Given the description of an element on the screen output the (x, y) to click on. 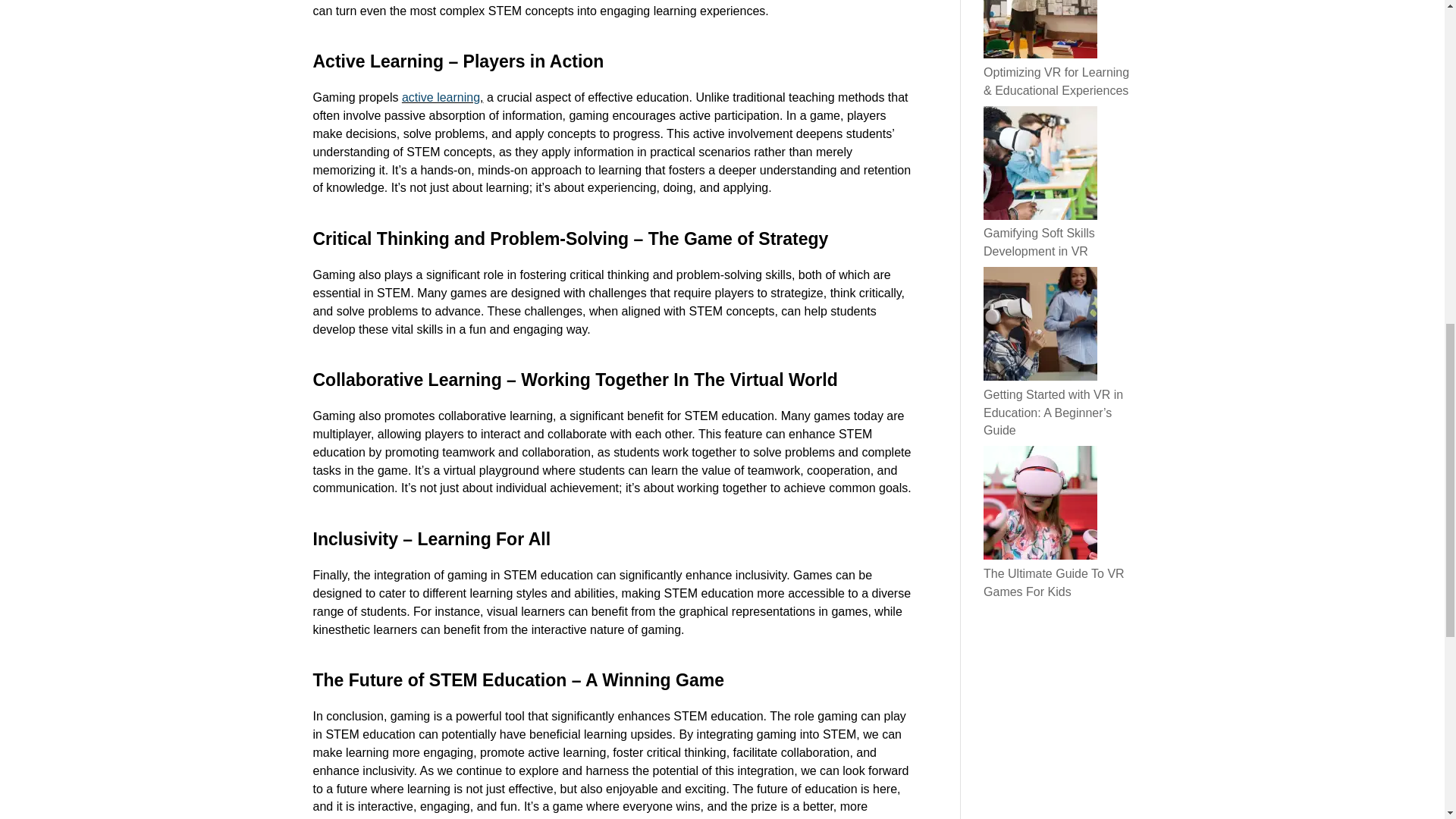
Gamifying Soft Skills Development in VR (1039, 241)
The Ultimate Guide To VR Games For Kids (1054, 582)
active learning (440, 97)
